Given the description of an element on the screen output the (x, y) to click on. 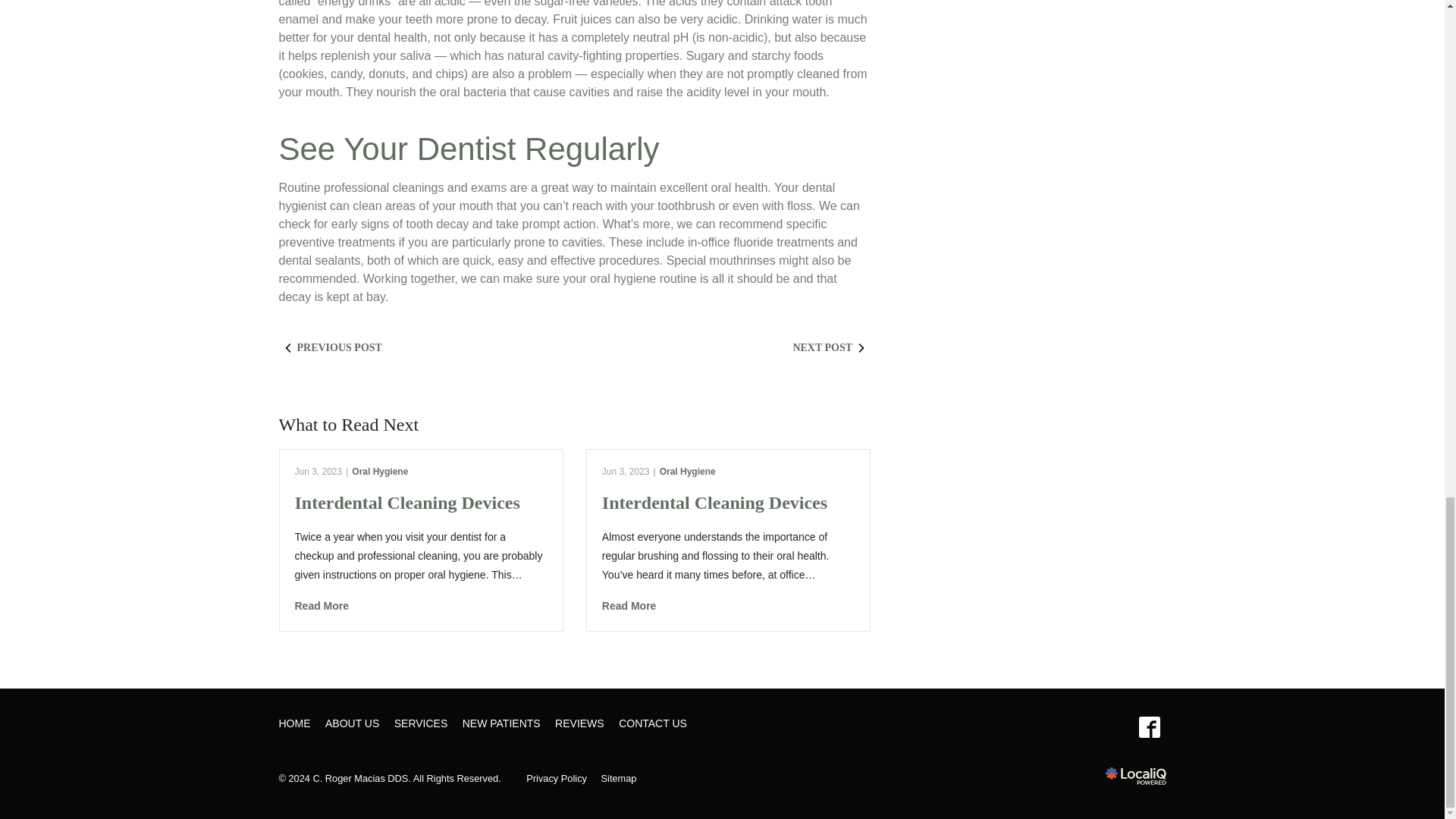
facebook (1149, 727)
Interdental Cleaning Devices (420, 606)
Interdental Cleaning Devices (728, 606)
